Given the description of an element on the screen output the (x, y) to click on. 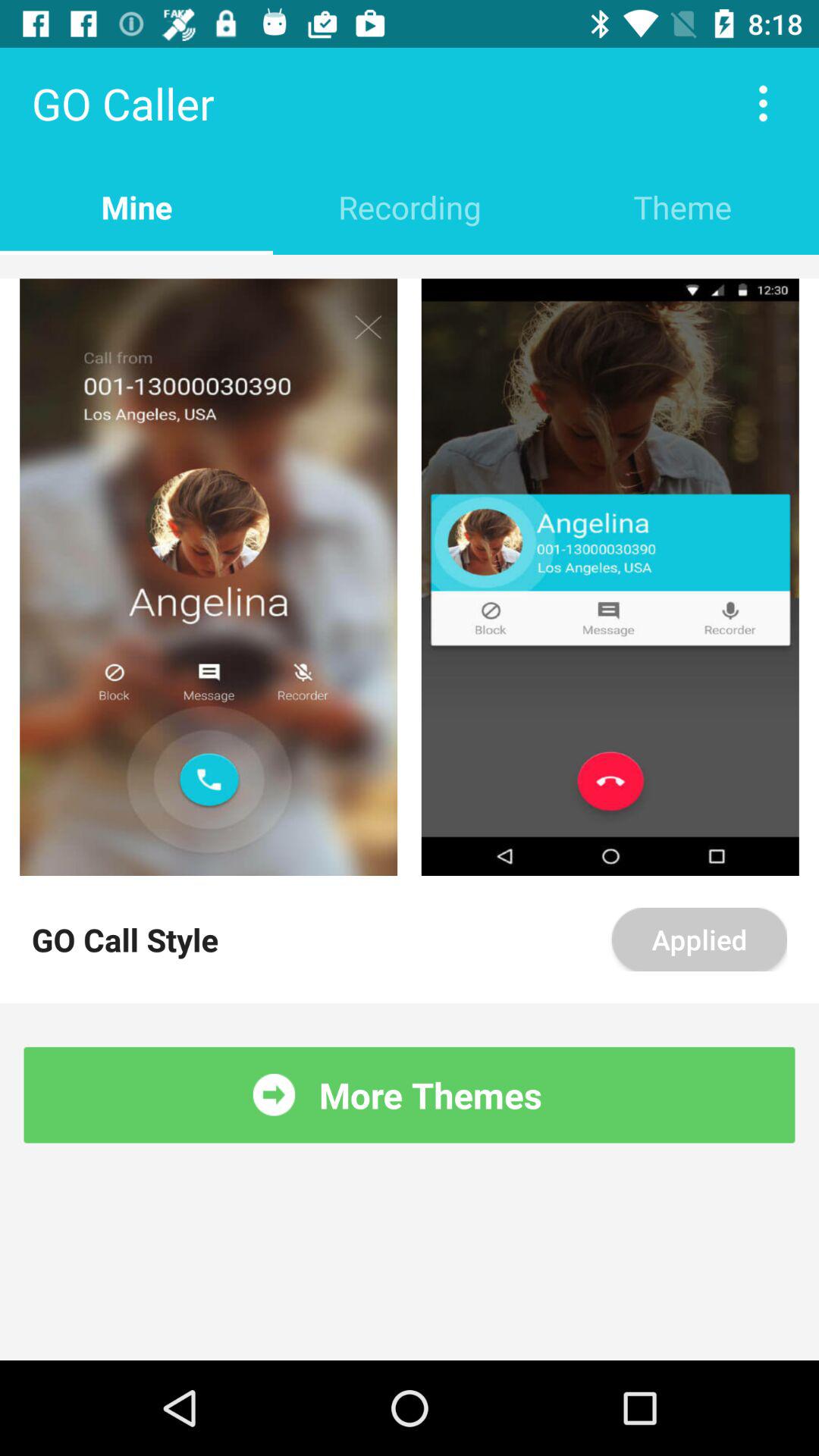
swipe until the mine icon (136, 206)
